Given the description of an element on the screen output the (x, y) to click on. 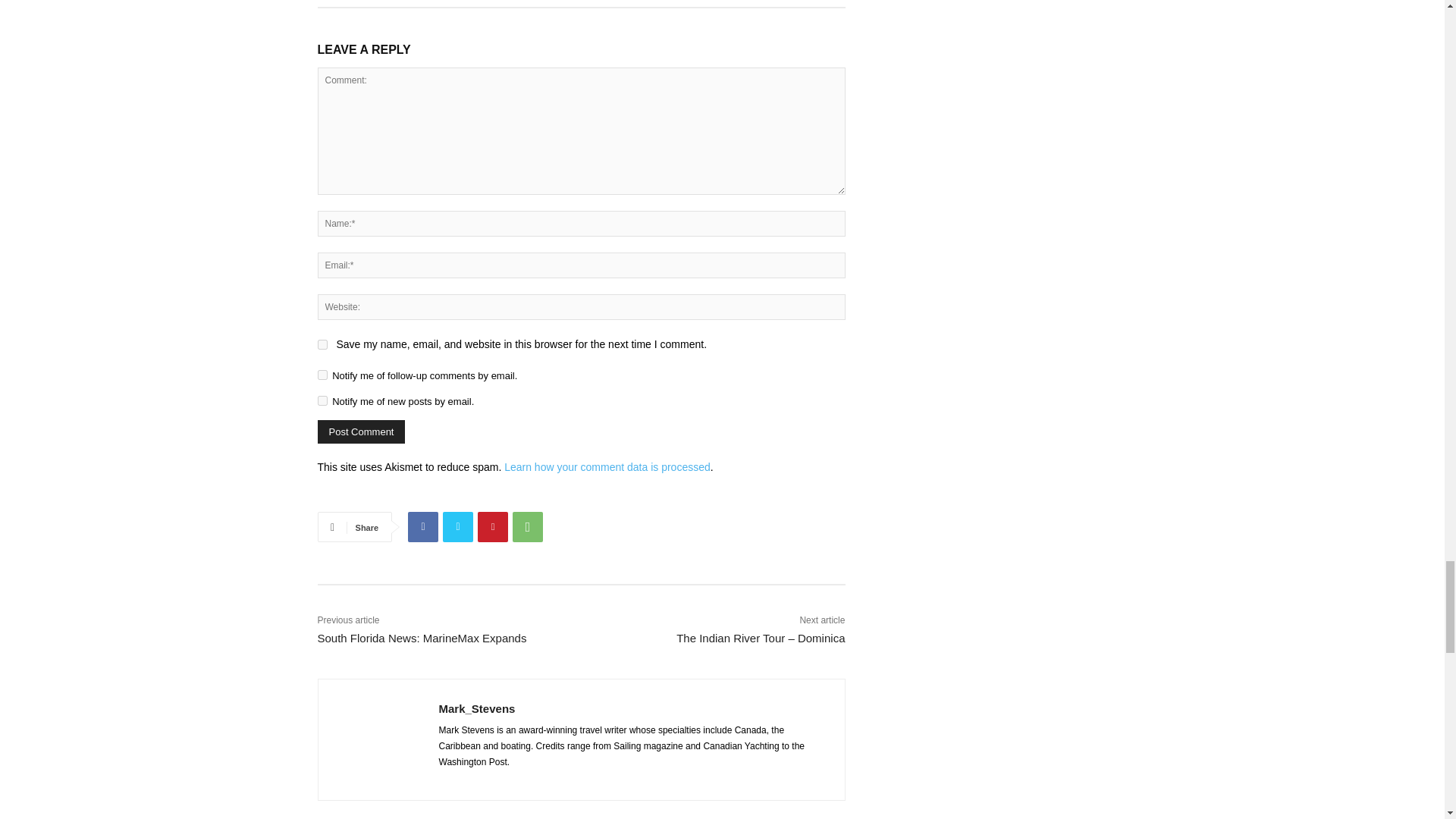
Post Comment (360, 431)
subscribe (321, 400)
yes (321, 344)
subscribe (321, 375)
